Given the description of an element on the screen output the (x, y) to click on. 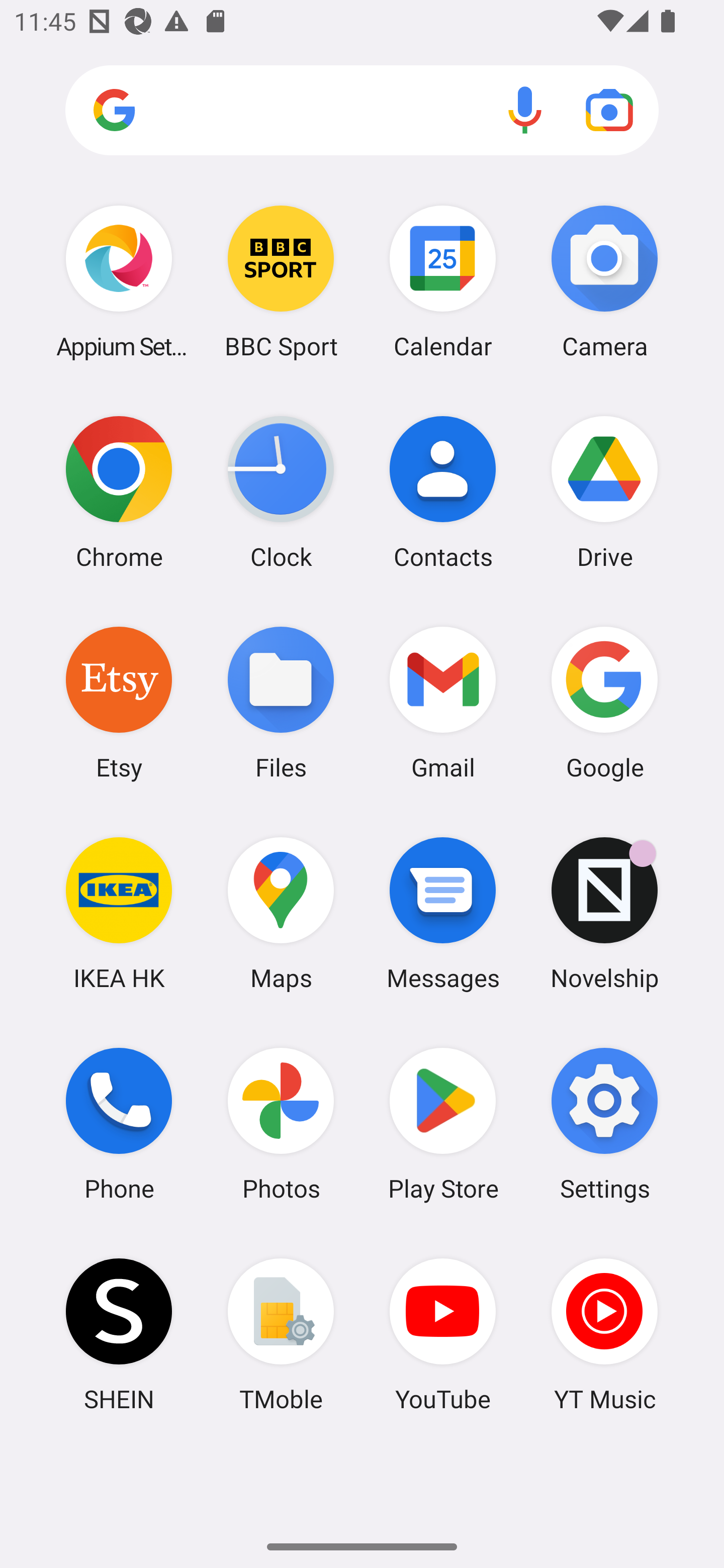
Search apps, web and more (361, 110)
Voice search (524, 109)
Google Lens (608, 109)
Appium Settings (118, 281)
BBC Sport (280, 281)
Calendar (443, 281)
Camera (604, 281)
Chrome (118, 492)
Clock (280, 492)
Contacts (443, 492)
Drive (604, 492)
Etsy (118, 702)
Files (280, 702)
Gmail (443, 702)
Google (604, 702)
IKEA HK (118, 913)
Maps (280, 913)
Messages (443, 913)
Novelship Novelship has 6 notifications (604, 913)
Phone (118, 1124)
Photos (280, 1124)
Play Store (443, 1124)
Settings (604, 1124)
SHEIN (118, 1334)
TMoble (280, 1334)
YouTube (443, 1334)
YT Music (604, 1334)
